Given the description of an element on the screen output the (x, y) to click on. 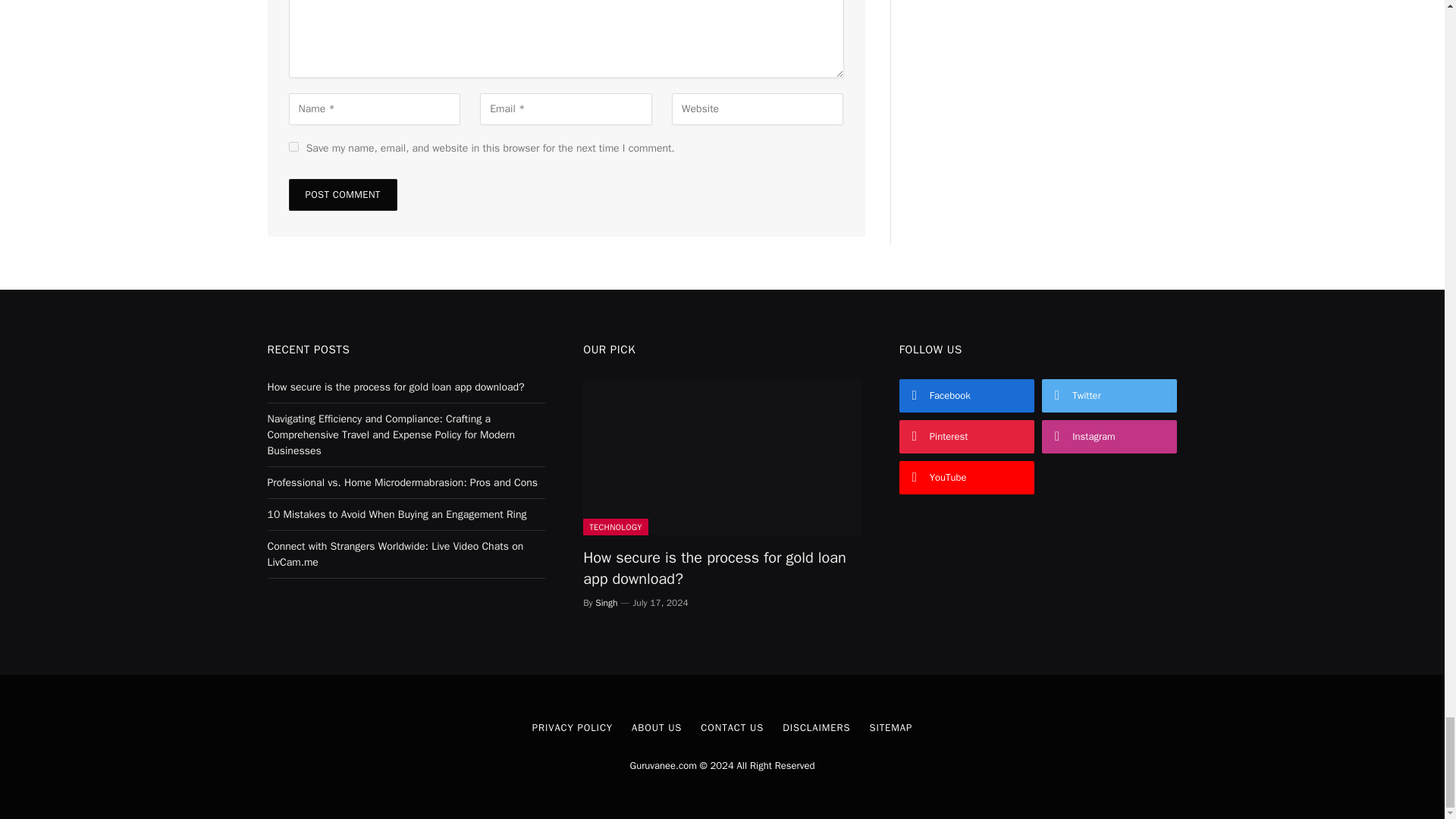
yes (293, 146)
Post Comment (342, 194)
